Given the description of an element on the screen output the (x, y) to click on. 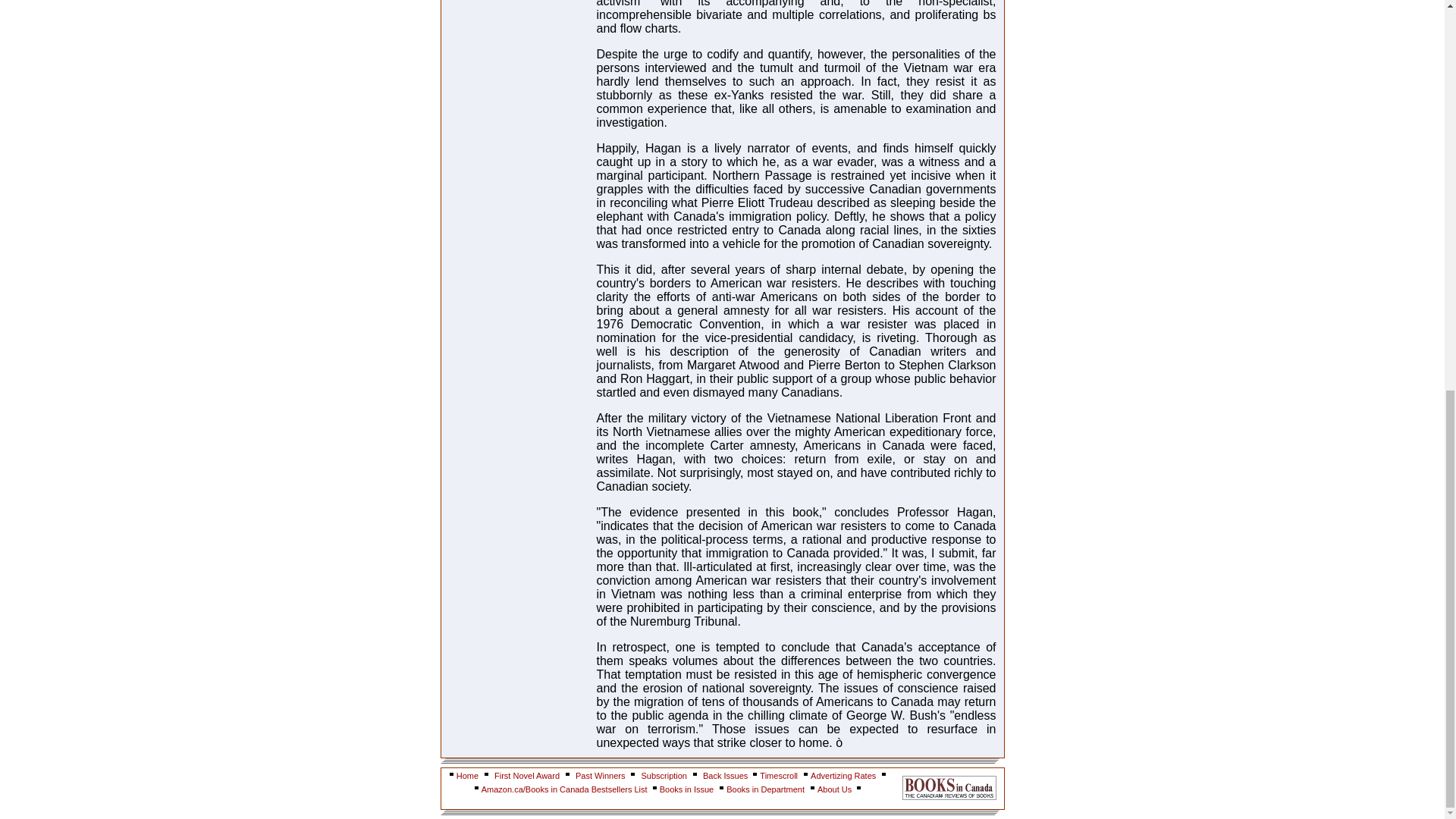
Back Issues (726, 775)
Past Winners (599, 775)
Timescroll (778, 775)
Books in Department (765, 788)
Subscription (663, 775)
Timescroll (778, 775)
Home (468, 775)
Home (468, 775)
Advertizing Rates (843, 775)
About Us (834, 788)
Books in Issue (686, 788)
Books in Issue (686, 788)
First Novel Award (527, 775)
First Novel Award (527, 775)
Subscription (663, 775)
